Given the description of an element on the screen output the (x, y) to click on. 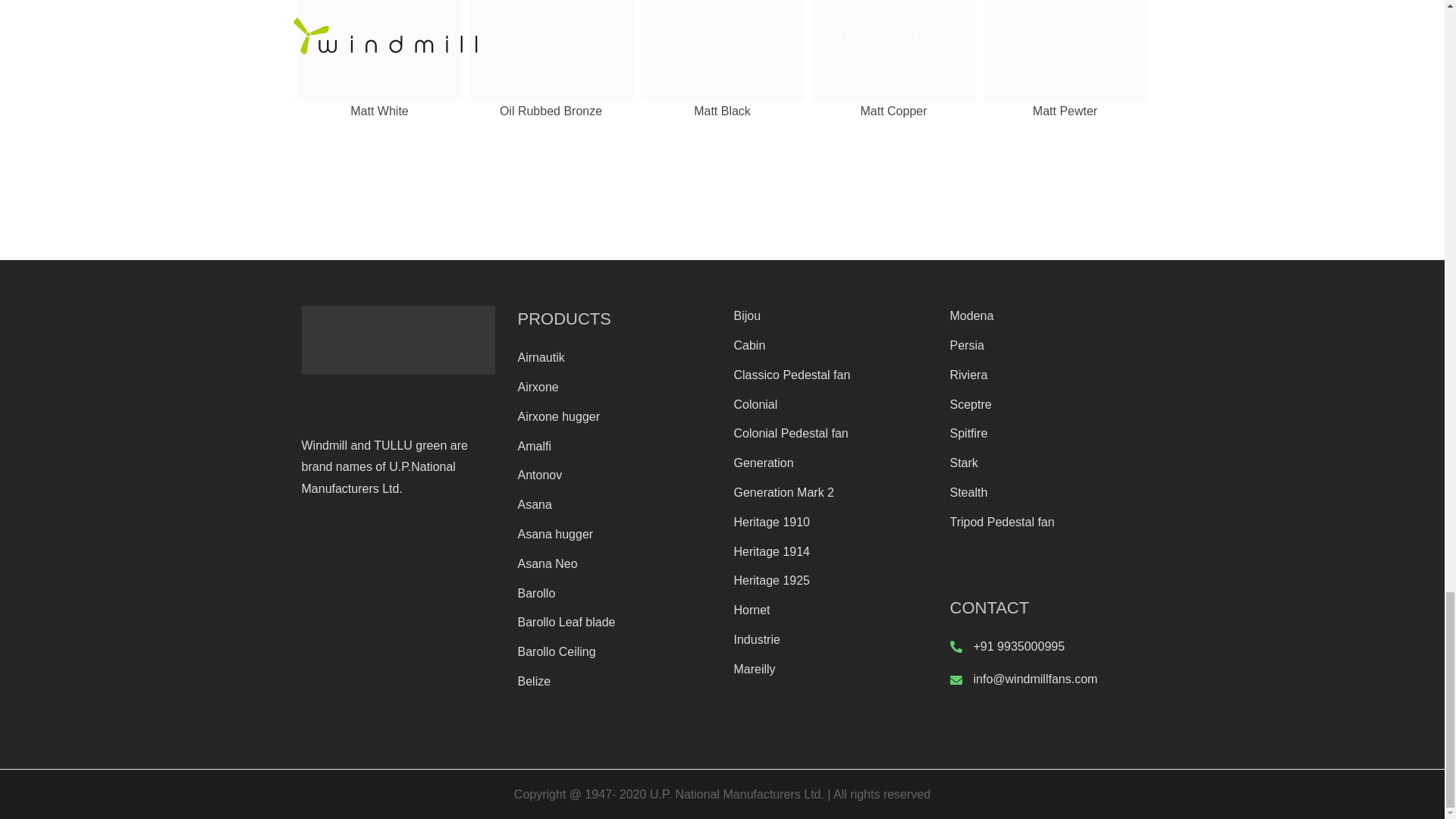
Barollo Leaf blade (565, 621)
Industrie (756, 639)
Persia (966, 345)
Asana Neo (546, 563)
Hornet (751, 609)
Asana (533, 504)
Airxone hugger (557, 416)
Mareilly (754, 668)
Belize (533, 680)
Cabin (749, 345)
